Given the description of an element on the screen output the (x, y) to click on. 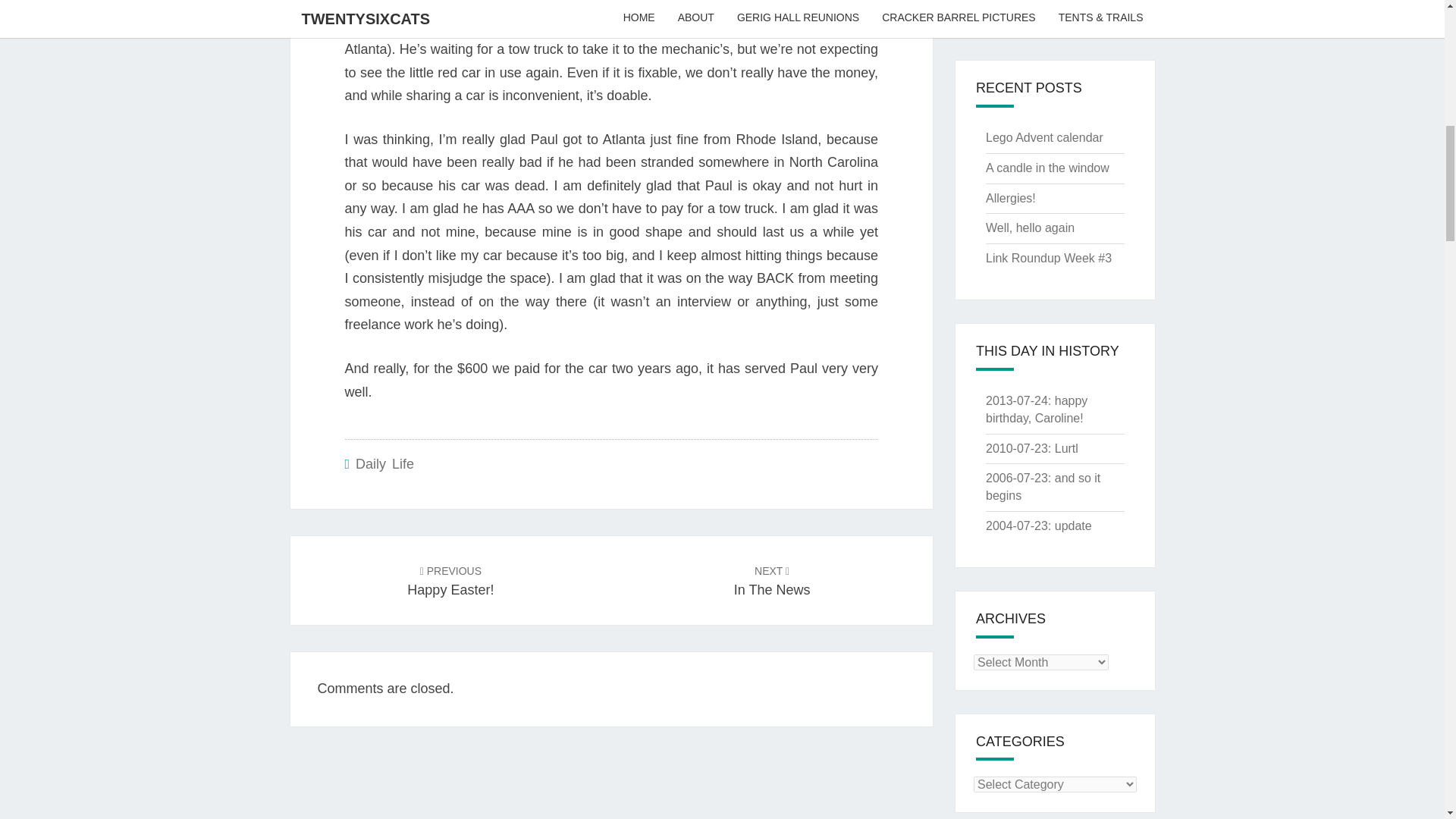
Allergies! (1010, 197)
Well, hello again (1029, 227)
Lurtl (1066, 448)
update (1073, 525)
Well, hello again (1047, 0)
happy birthday, Caroline! (1036, 409)
A candle in the window (1047, 167)
and so it begins (1042, 486)
Daily Life (450, 579)
Lego Advent calendar (384, 463)
